Given the description of an element on the screen output the (x, y) to click on. 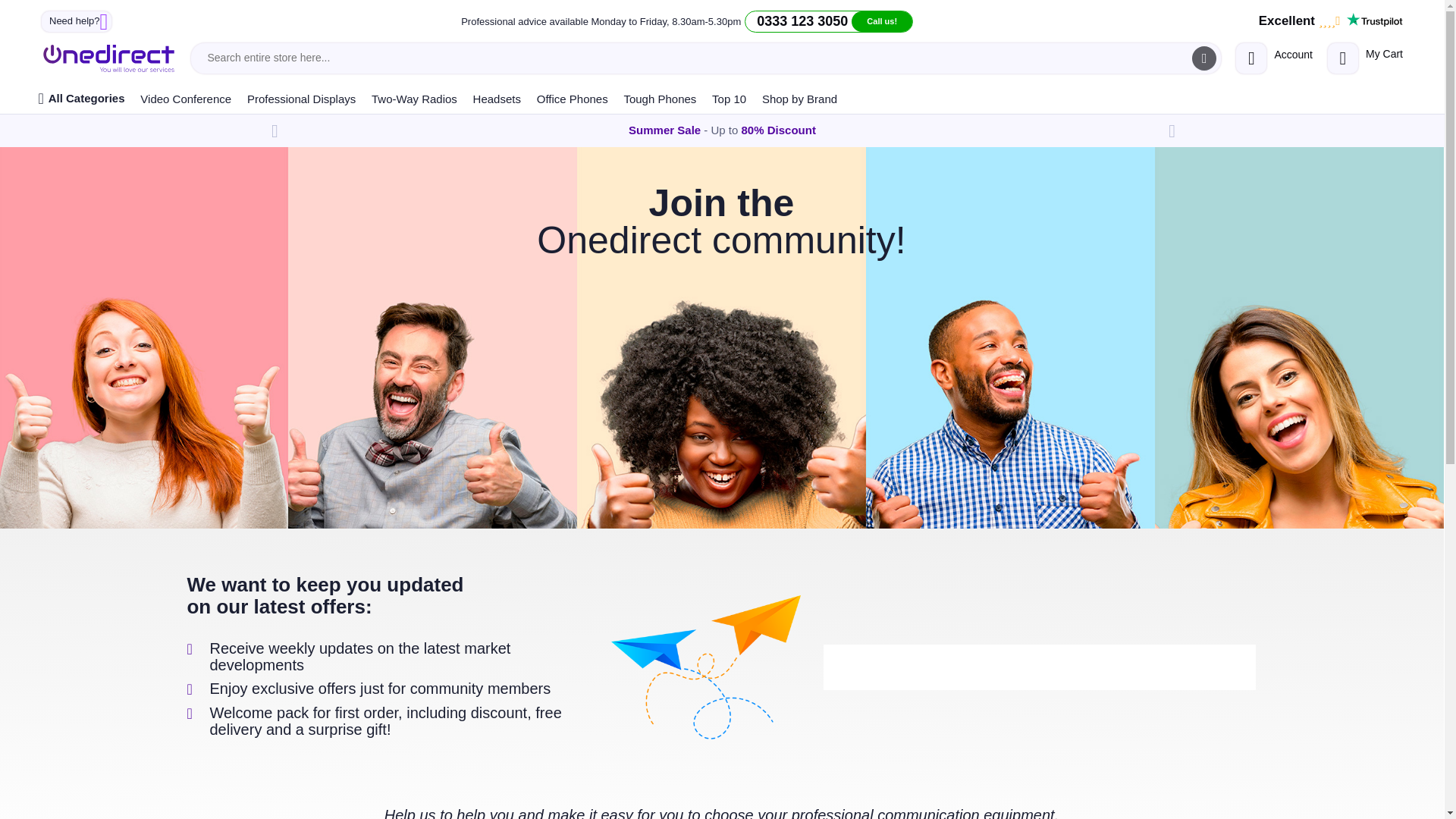
Onedirect (108, 58)
All Categories (81, 98)
Excellent (828, 21)
Search (1331, 21)
